Given the description of an element on the screen output the (x, y) to click on. 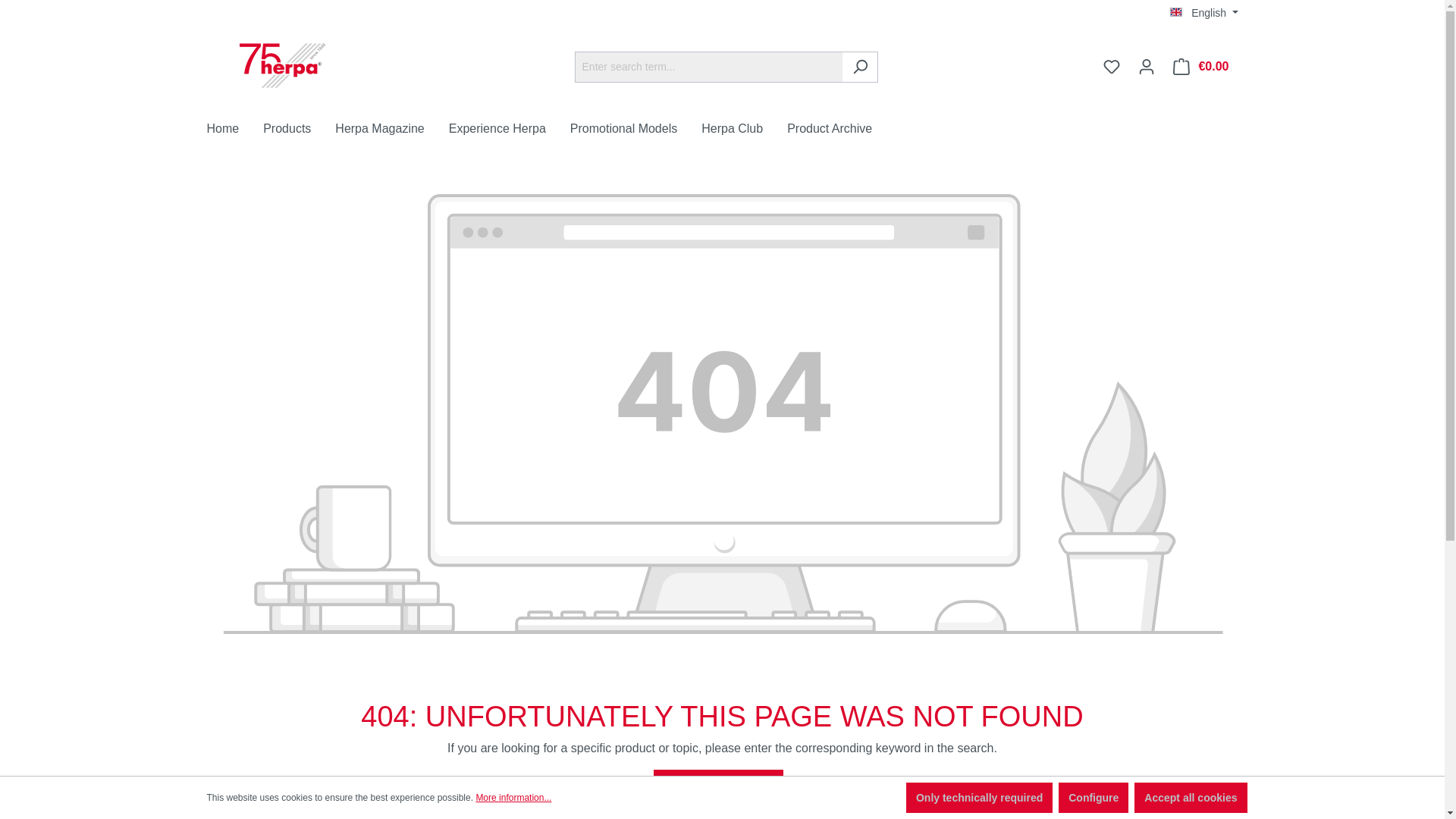
Herpa Magazine (391, 130)
Promotional Models (635, 130)
Your account (1146, 66)
Home (234, 130)
Herpa Magazine (391, 130)
Experience Herpa (509, 130)
Shopping cart (1201, 66)
Wishlist (1111, 66)
Go to homepage (282, 63)
English (1203, 12)
